Given the description of an element on the screen output the (x, y) to click on. 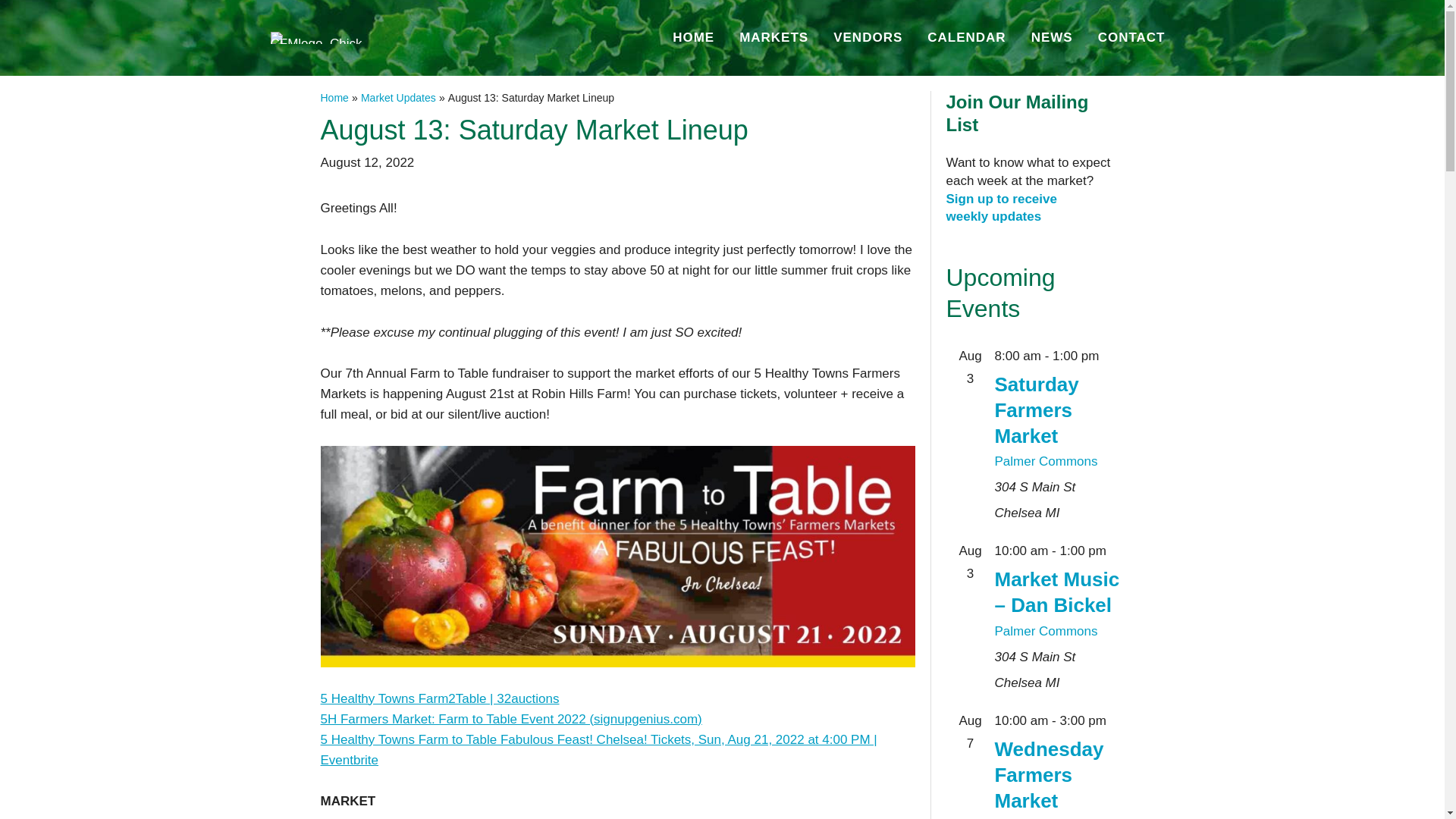
CALENDAR (966, 37)
Event Series (1107, 355)
MARKETS (773, 37)
Palmer Commons (1045, 631)
CONTACT (1131, 37)
HOME (1001, 207)
Wednesday Farmers Market (693, 37)
Saturday Farmers Market (1048, 774)
Palmer Commons (1036, 410)
NEWS (1045, 461)
Home (1051, 37)
Event Series (333, 97)
Market Updates (1115, 719)
VENDORS (398, 97)
